Given the description of an element on the screen output the (x, y) to click on. 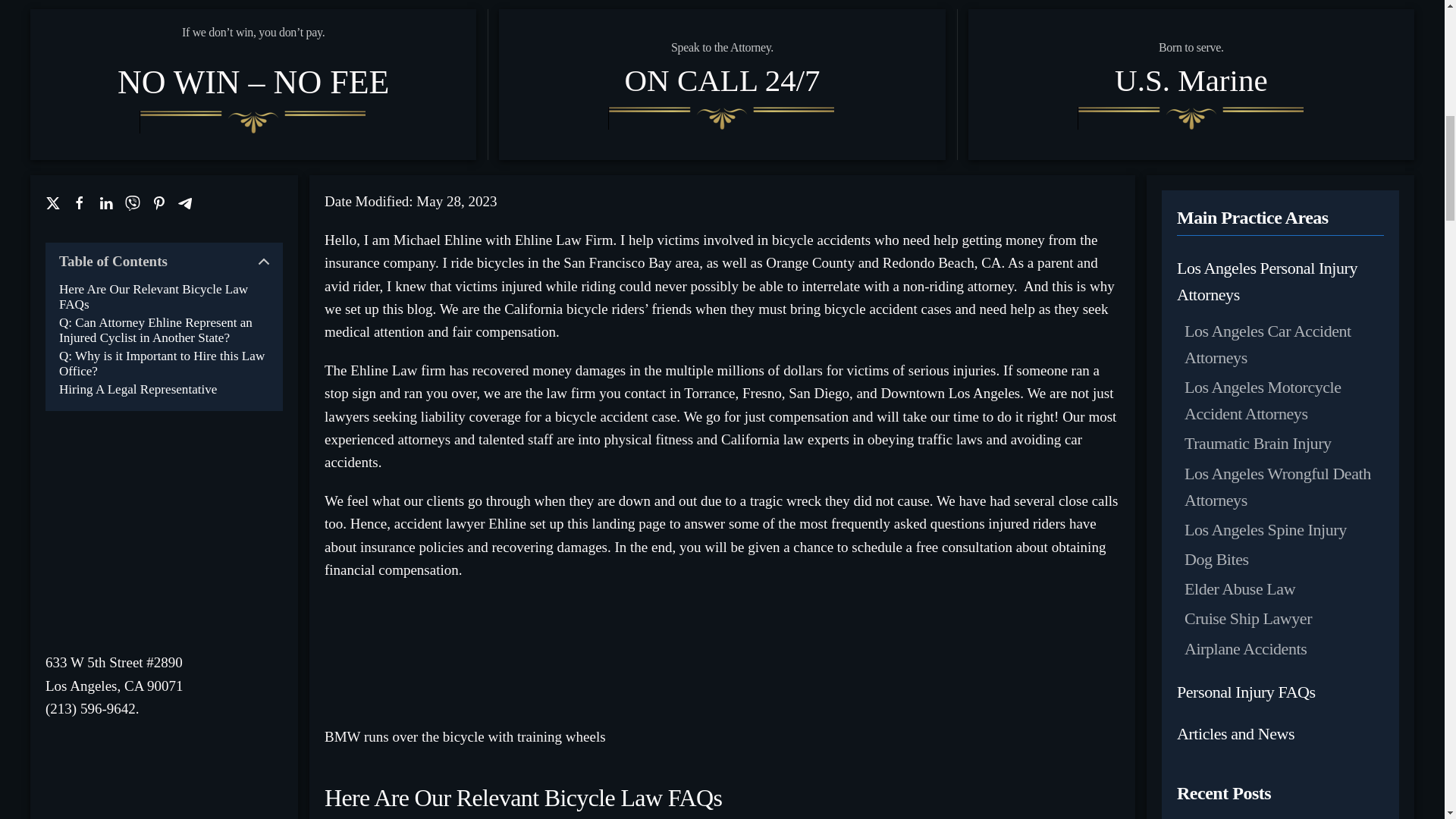
Q: Why is it Important to Hire this Law Office? (164, 363)
Pinterest (159, 202)
Twitter (53, 202)
linkedIn (106, 202)
Viber (132, 202)
Telegram (185, 202)
Hiring A Legal Representative (137, 389)
Main Los Angeles Map (163, 541)
Facebook (79, 202)
Here Are Our Relevant Bicycle Law FAQs (164, 296)
